Given the description of an element on the screen output the (x, y) to click on. 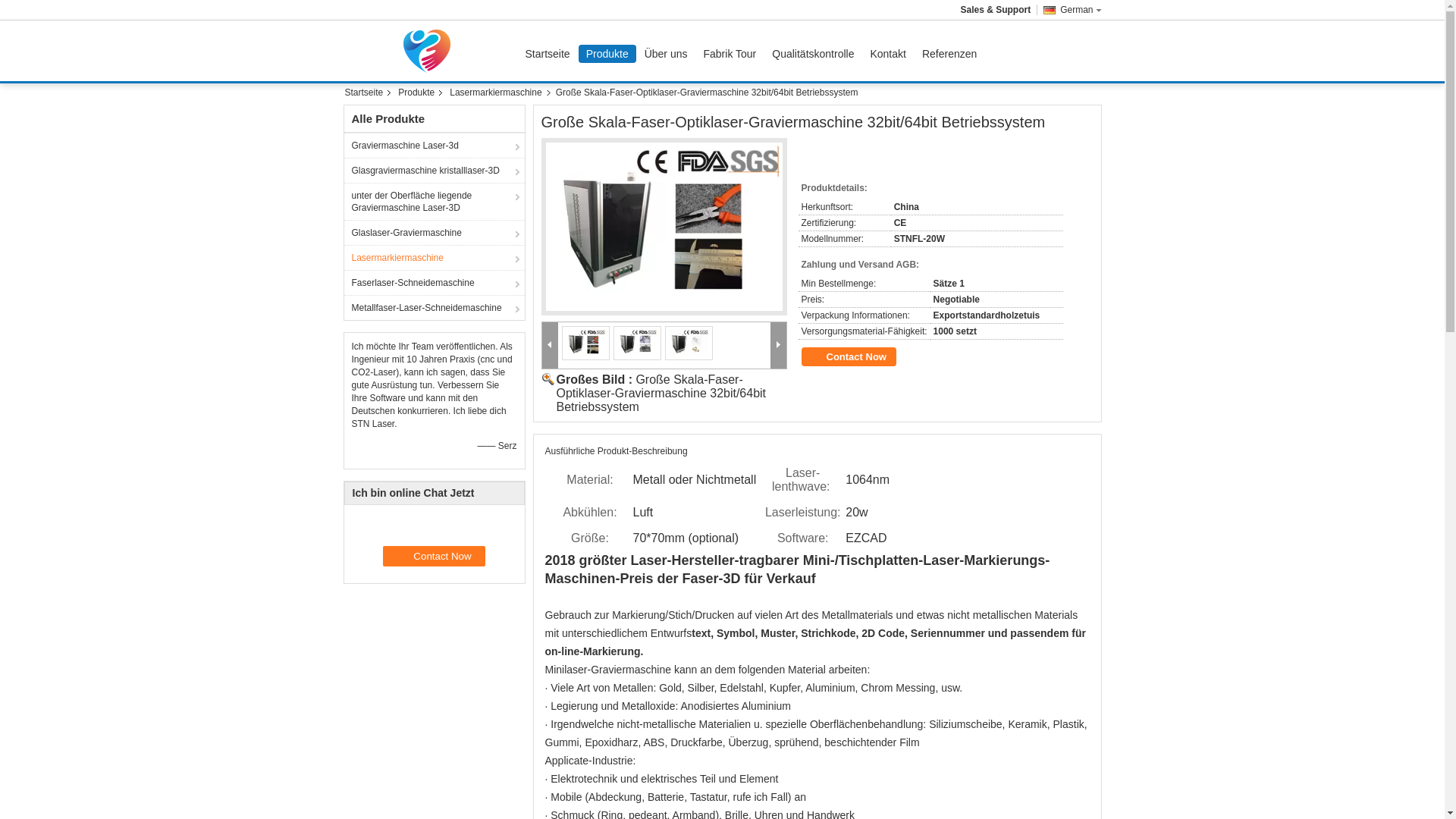
German Element type: text (1068, 9)
Glaslaser-Graviermaschine Element type: text (434, 231)
Startseite Element type: text (368, 92)
Fabrik Tour Element type: text (730, 53)
Startseite Element type: text (547, 53)
Faserlaser-Schneidemaschine Element type: text (434, 281)
Metallfaser-Laser-Schneidemaschine Element type: text (434, 307)
Kontakt Element type: text (887, 53)
Graviermaschine Laser-3d Element type: text (434, 144)
Referenzen Element type: text (949, 53)
Glasgraviermaschine kristalllaser-3D Element type: text (434, 169)
Lasermarkiermaschine Element type: text (496, 92)
Referenzen Element type: text (949, 53)
Contact Now Element type: text (433, 556)
Produkte Element type: text (417, 92)
Produkte Element type: text (607, 53)
China Graviermaschine Laser-3d fabricant Element type: hover (429, 50)
Lasermarkiermaschine Element type: text (434, 256)
Contact Now Element type: text (847, 356)
